Given the description of an element on the screen output the (x, y) to click on. 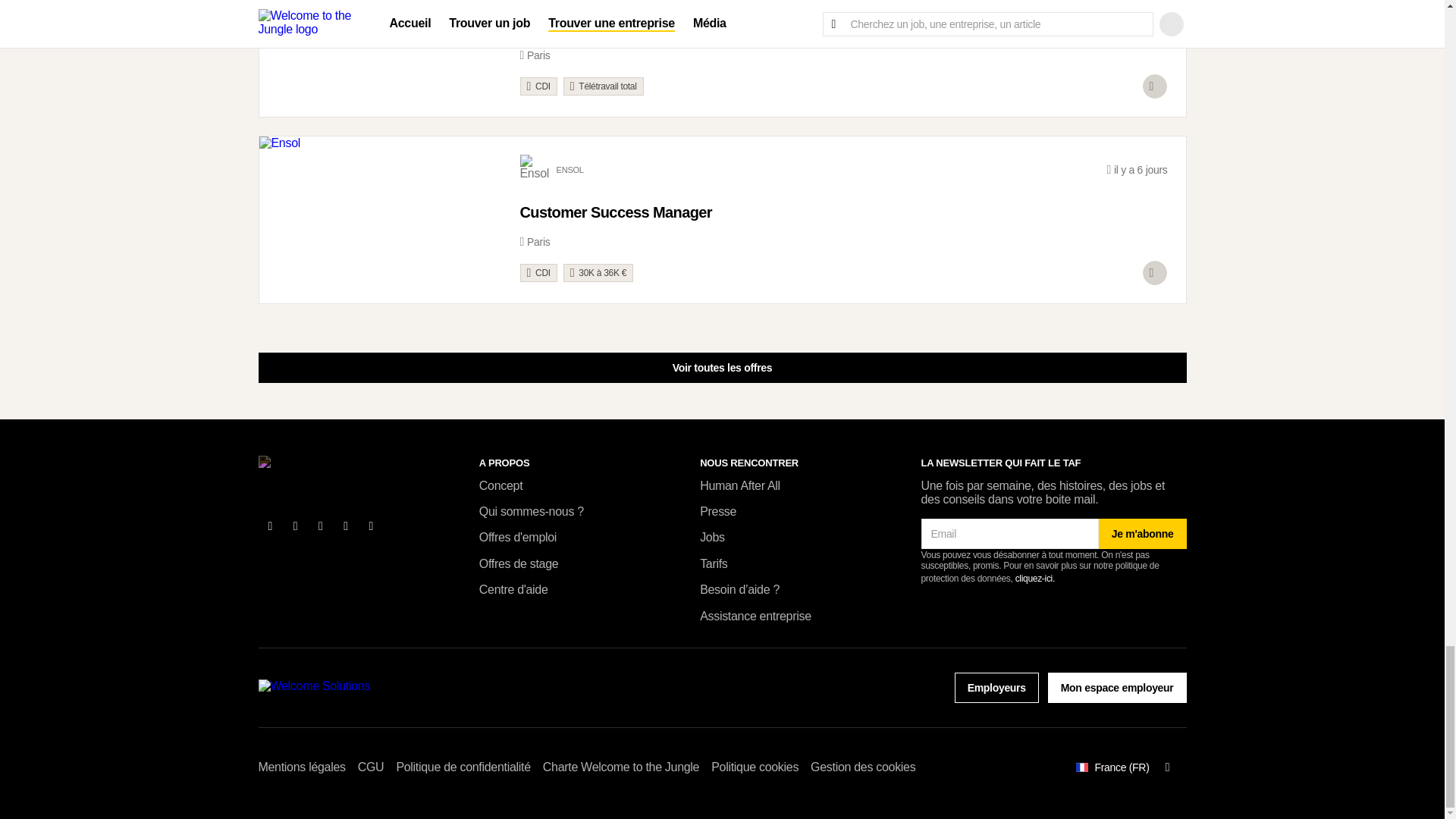
LinkedIn (320, 526)
Facebook (269, 526)
Twitter (295, 526)
Welcome to the Jungle (319, 469)
YouTube (345, 526)
Instagram (371, 526)
